Given the description of an element on the screen output the (x, y) to click on. 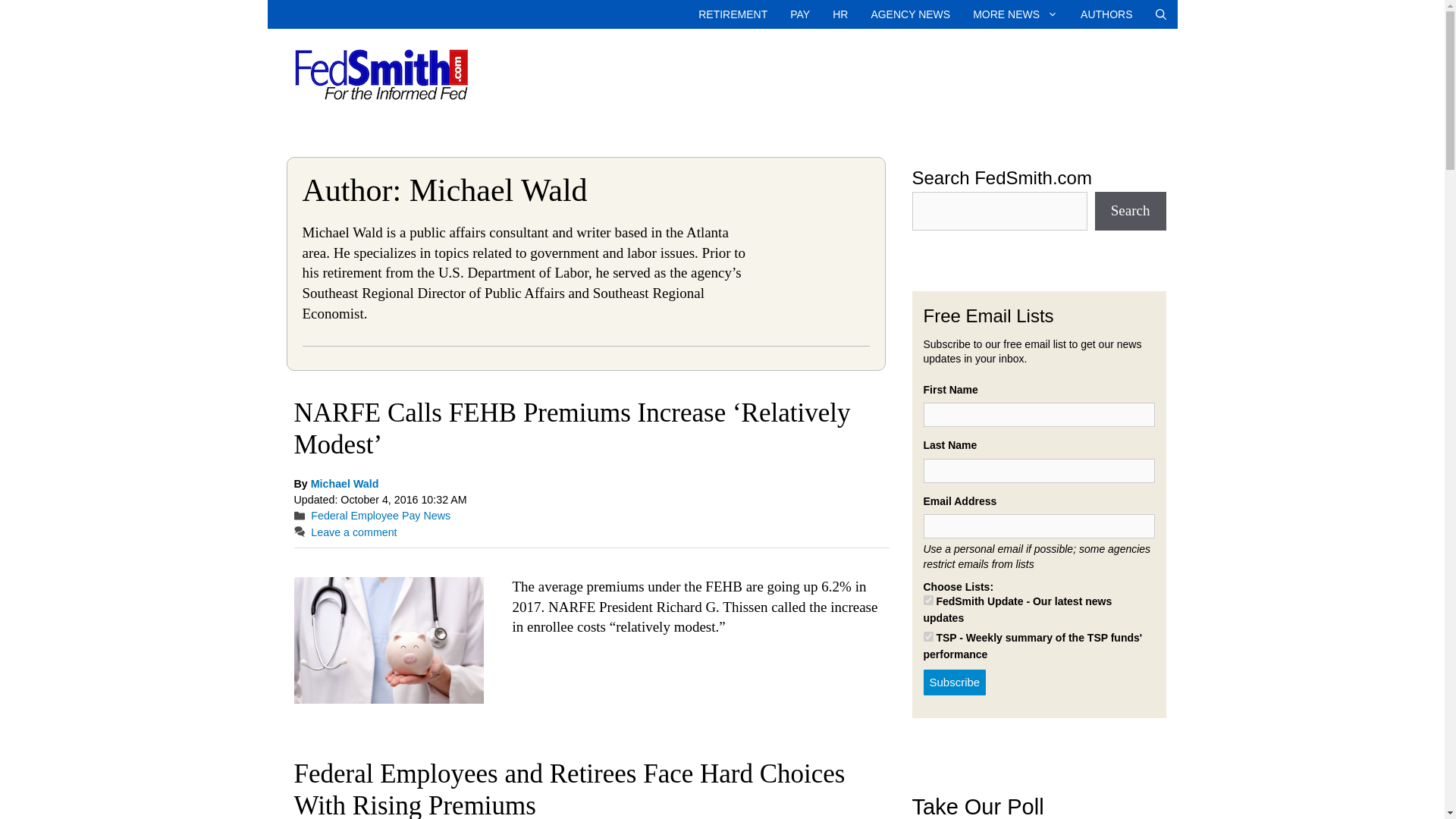
Federal Employee Pay News (380, 515)
MORE NEWS (1014, 14)
Federal Employee Retirement News (732, 14)
Federal Human Resources News (840, 14)
HR (840, 14)
AUTHORS (1105, 14)
PAY (799, 14)
2 (928, 636)
Subscribe (955, 682)
View all articles by Michael Wald (344, 483)
Leave a comment (353, 532)
1 (928, 600)
Michael Wald (344, 483)
RETIREMENT (732, 14)
AGENCY NEWS (909, 14)
